Given the description of an element on the screen output the (x, y) to click on. 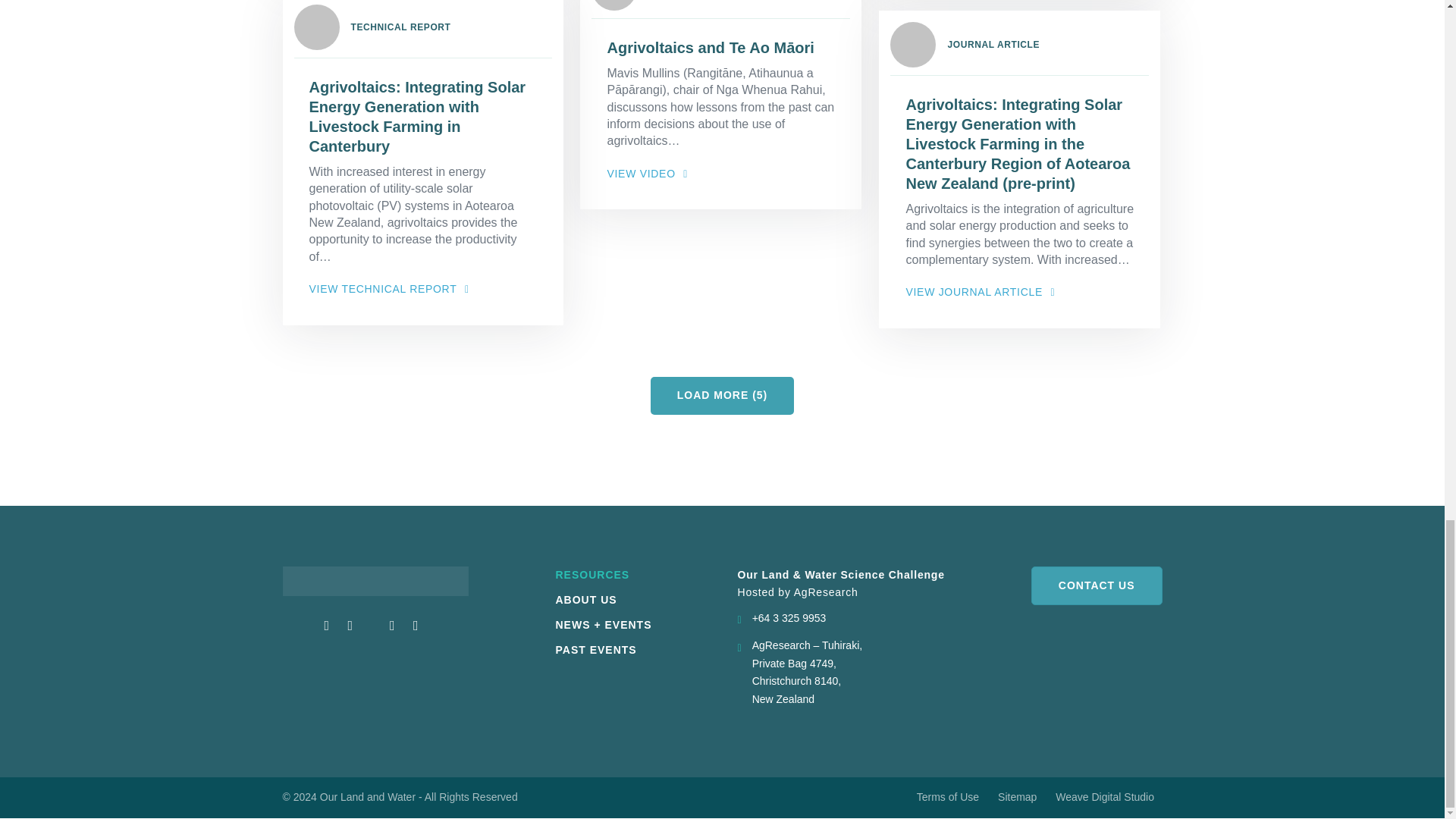
Our Land And Water Ribbon Horizontal White Logo (374, 581)
